Given the description of an element on the screen output the (x, y) to click on. 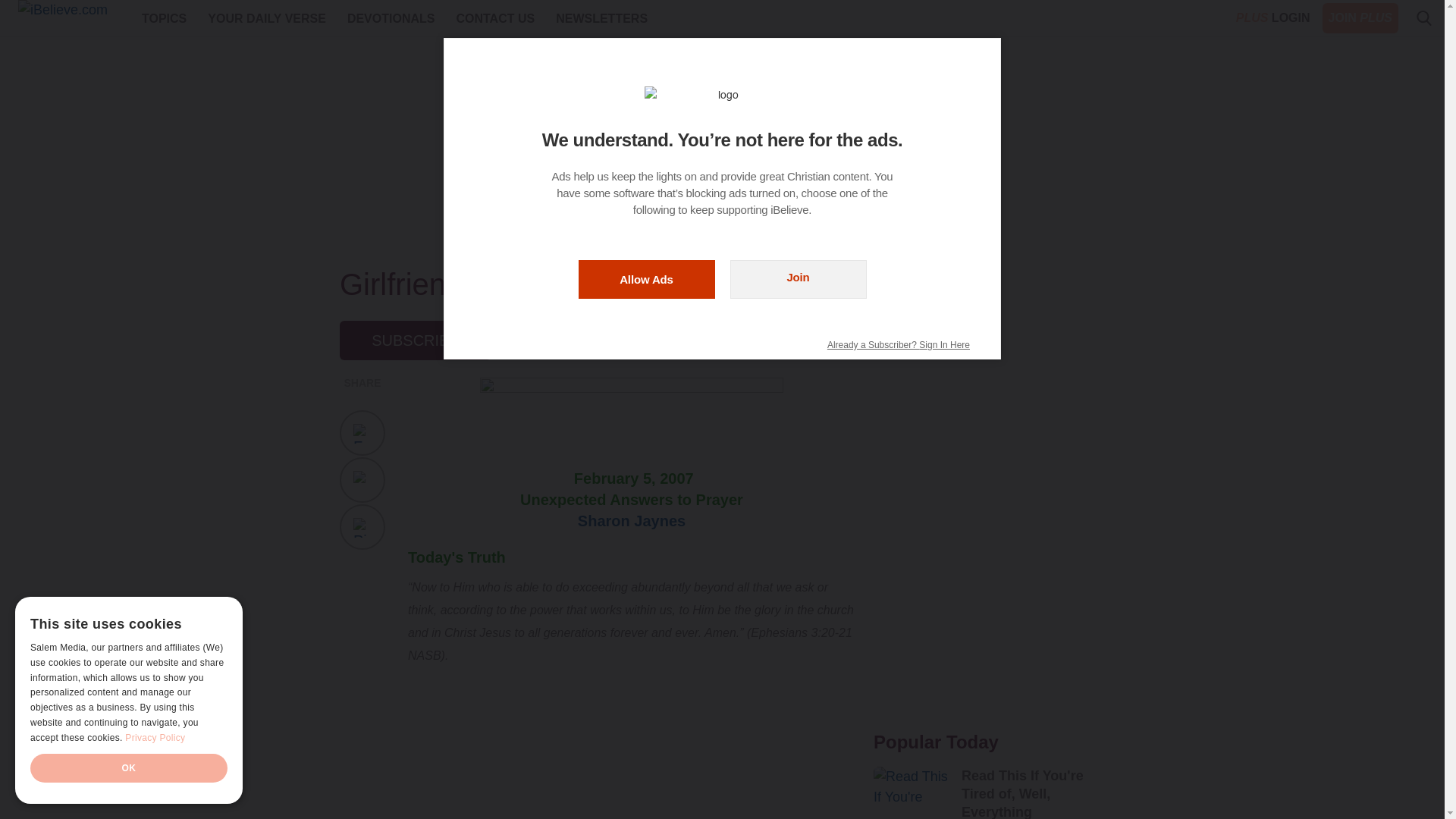
DEVOTIONALS (390, 18)
iBelieve.com (73, 18)
CONTACT US (494, 18)
JOIN PLUS (1359, 18)
NEWSLETTERS (601, 18)
YOUR DAILY VERSE (266, 18)
PLUS LOGIN (1273, 18)
TOPICS (163, 18)
